Given the description of an element on the screen output the (x, y) to click on. 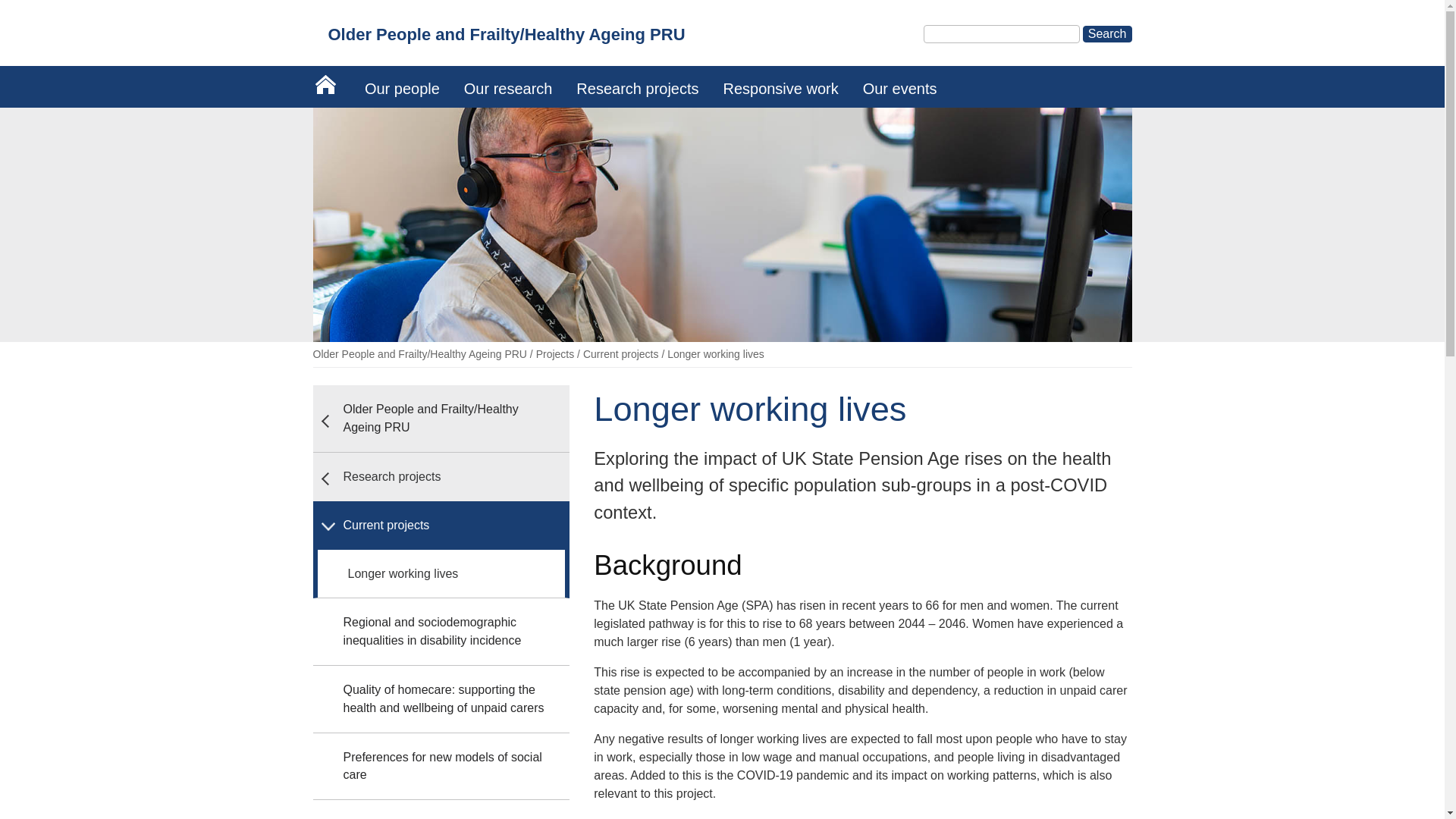
Search (1107, 33)
Search (1107, 33)
